Given the description of an element on the screen output the (x, y) to click on. 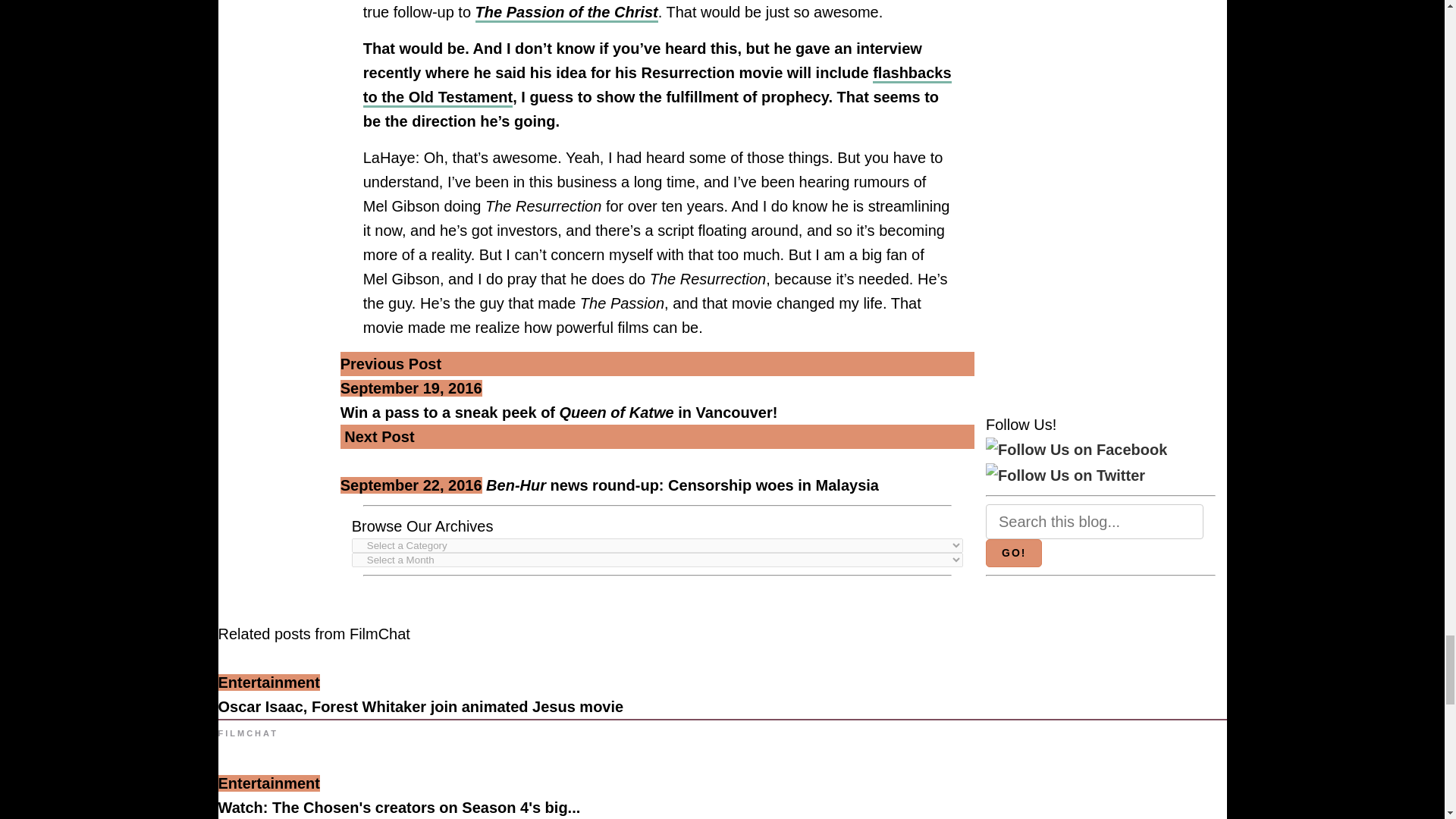
Go! (1013, 552)
Follow Us on Facebook (1076, 449)
Follow Us on Twitter (1064, 475)
